Given the description of an element on the screen output the (x, y) to click on. 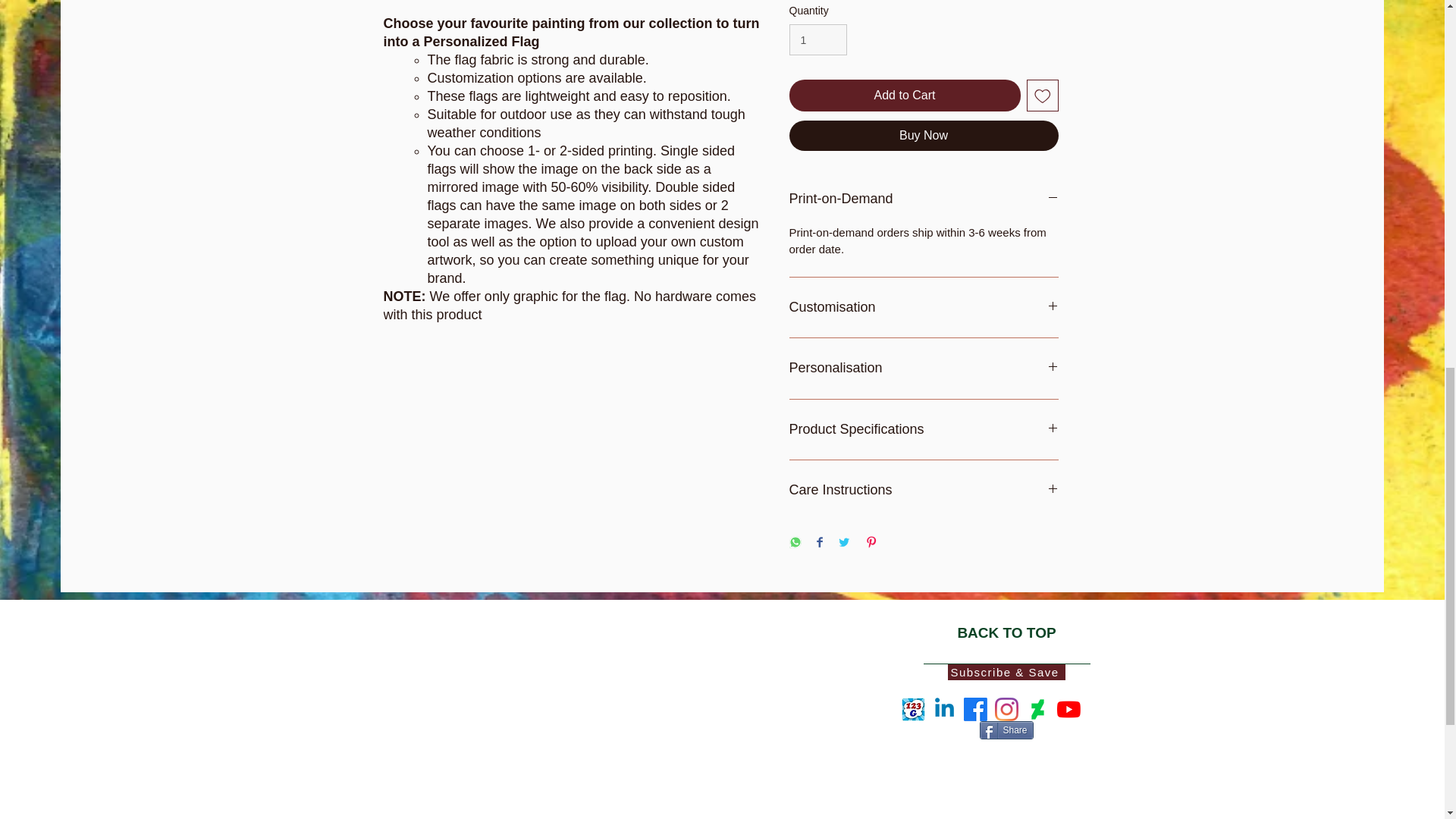
1 (817, 39)
Share (1006, 730)
Facebook Like (991, 695)
